Given the description of an element on the screen output the (x, y) to click on. 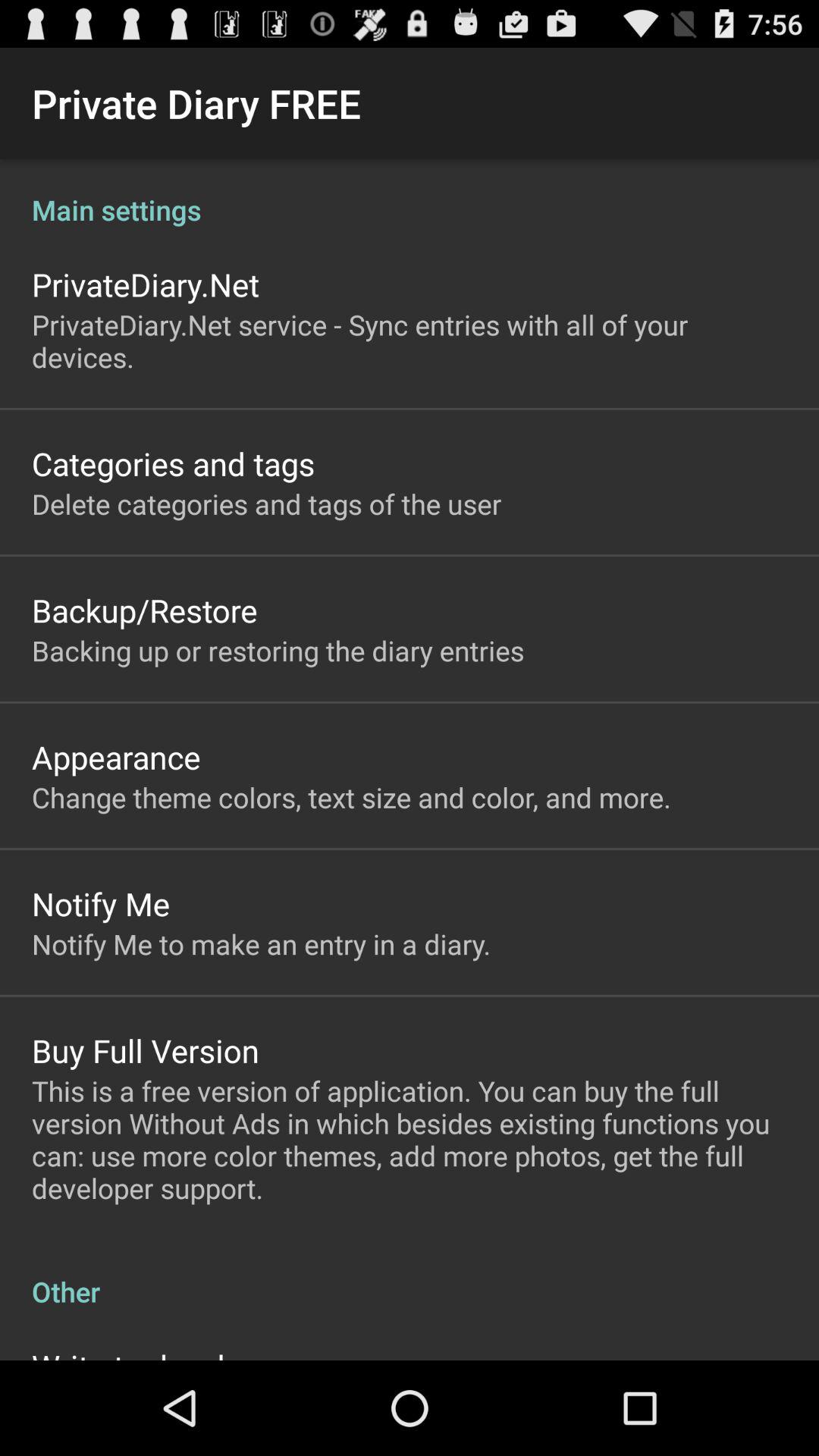
launch app above the privatediary.net icon (409, 193)
